Given the description of an element on the screen output the (x, y) to click on. 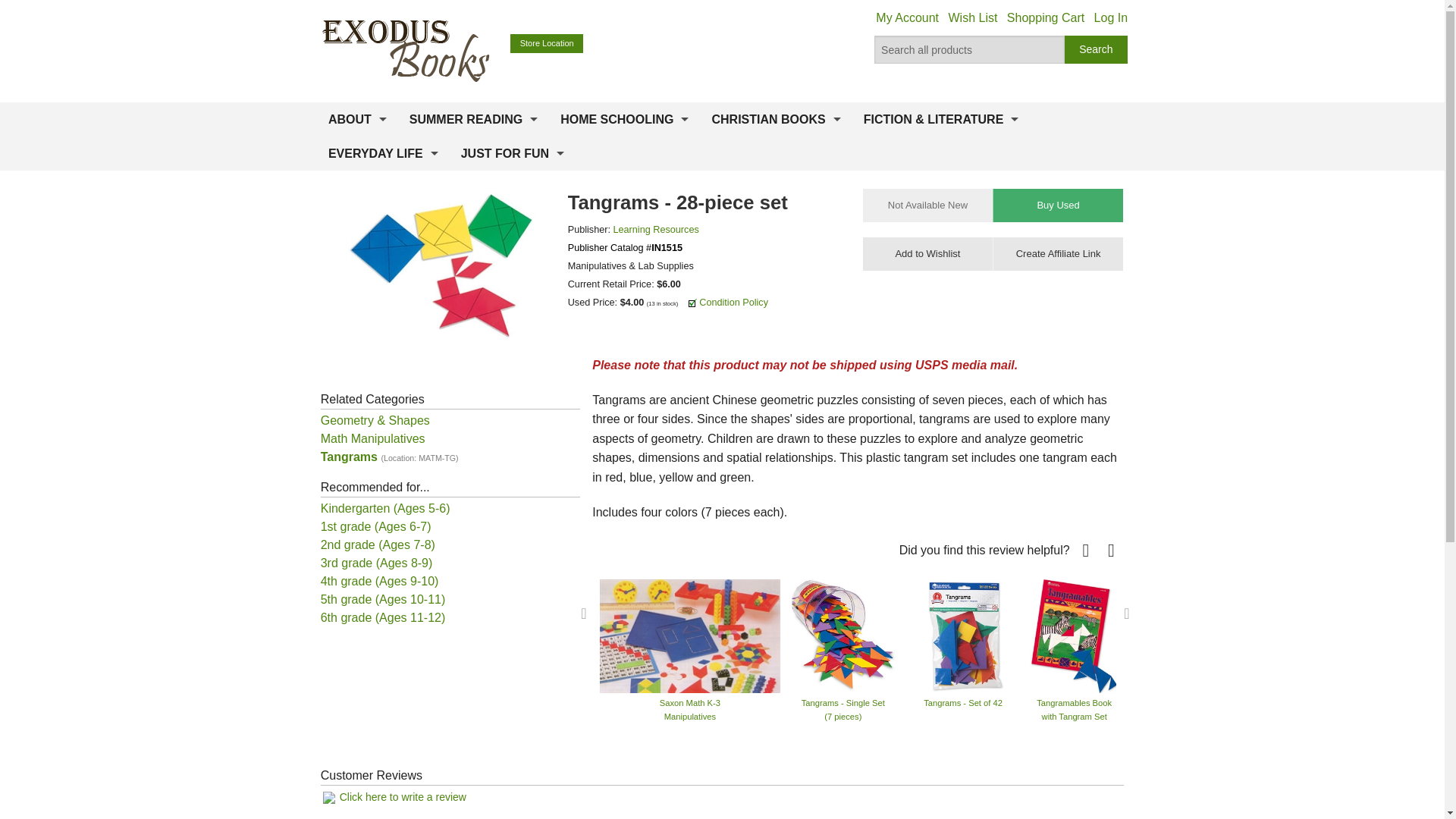
Search (1096, 49)
Add to Wishlist (927, 254)
Shopping Cart (1045, 17)
Log In (1110, 17)
Search (1096, 49)
SUMMER READING (472, 119)
Create Affiliate Link (1057, 254)
4" Geared Clock (1383, 634)
Not Available New (927, 205)
link to this item (1057, 254)
